Given the description of an element on the screen output the (x, y) to click on. 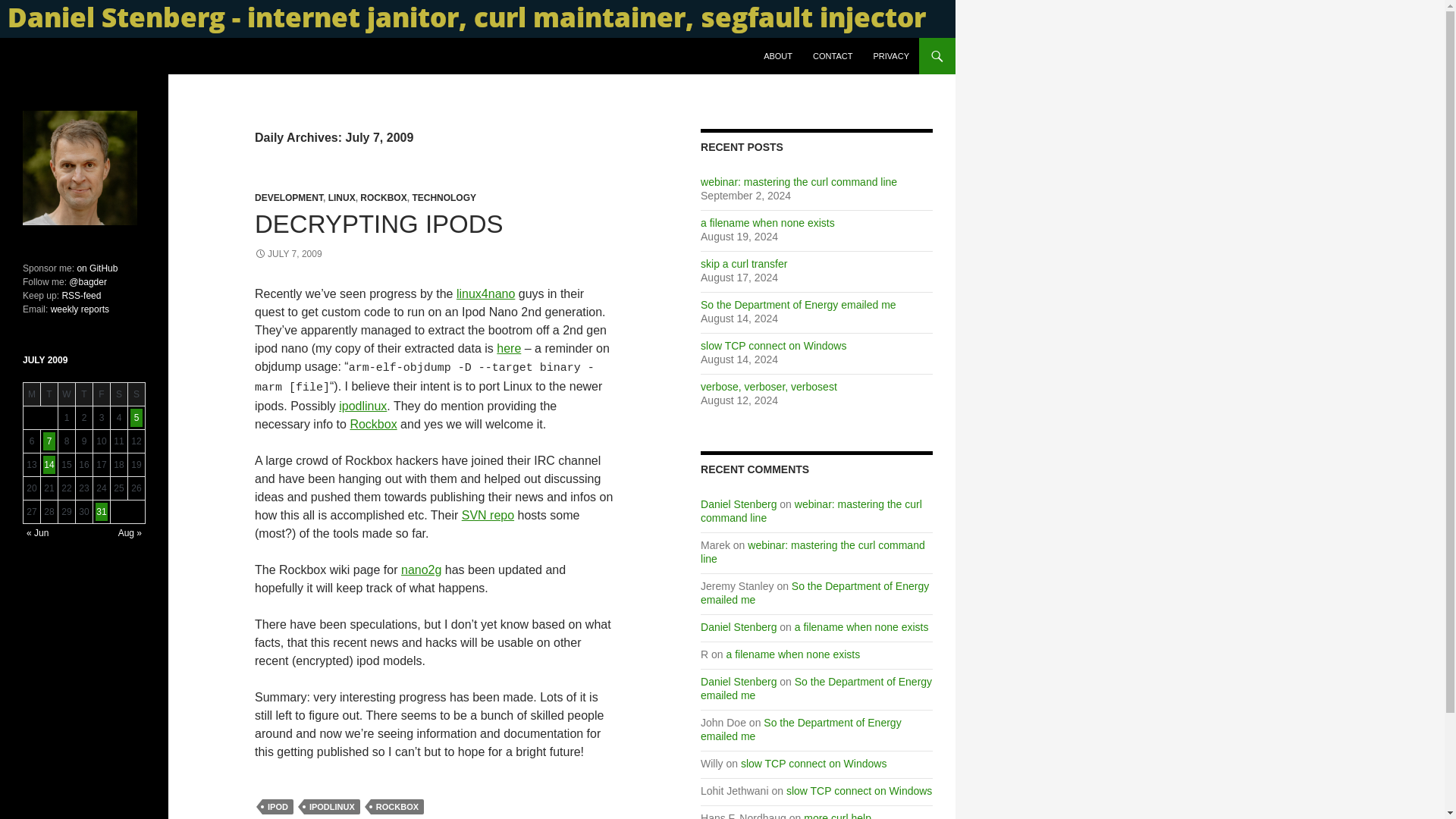
daniel.haxx.se (69, 55)
JULY 7, 2009 (287, 253)
webinar: mastering the curl command line (810, 510)
a filename when none exists (861, 626)
So the Department of Energy emailed me (798, 304)
DECRYPTING IPODS (378, 223)
TECHNOLOGY (444, 197)
DEVELOPMENT (288, 197)
here (508, 348)
So the Department of Energy emailed me (814, 592)
